Given the description of an element on the screen output the (x, y) to click on. 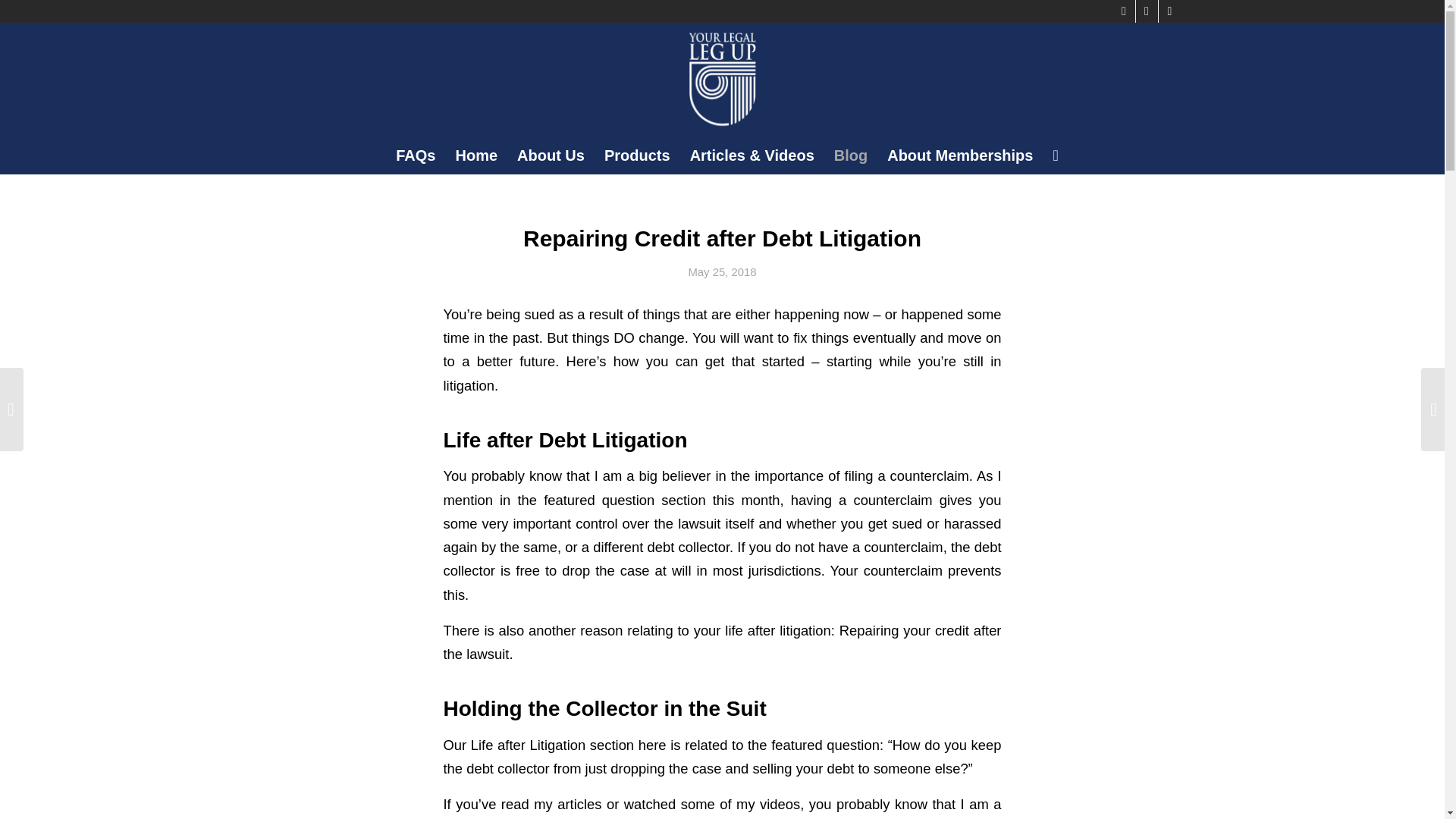
FAQs (415, 155)
Youtube (1146, 11)
Home (475, 155)
About Memberships (959, 155)
About Us (550, 155)
Products (636, 155)
Facebook (1124, 11)
Blog (850, 155)
Twitter (1169, 11)
